Given the description of an element on the screen output the (x, y) to click on. 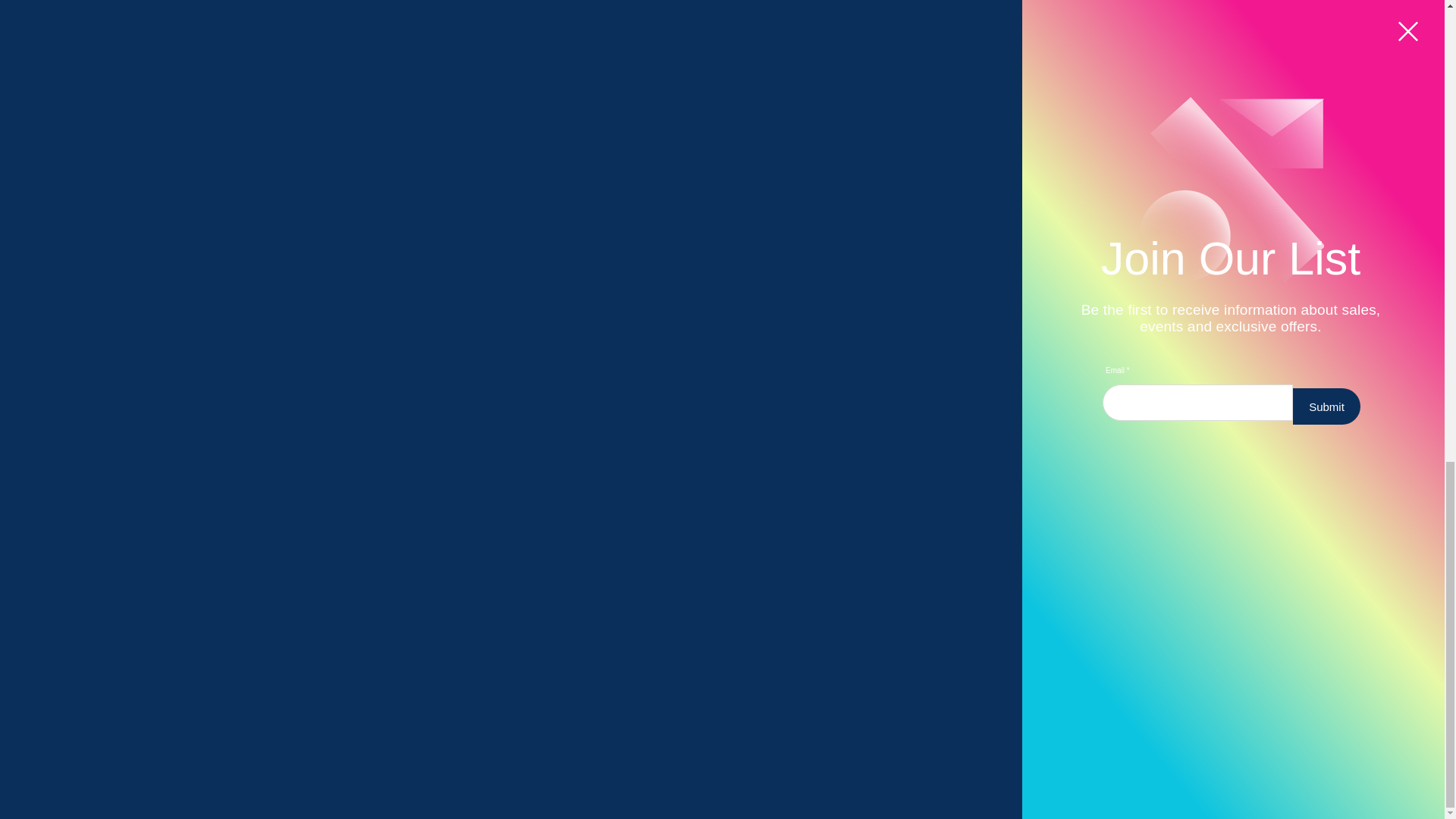
LogoBlack.png (425, 640)
Subscribe (1025, 769)
